Given the description of an element on the screen output the (x, y) to click on. 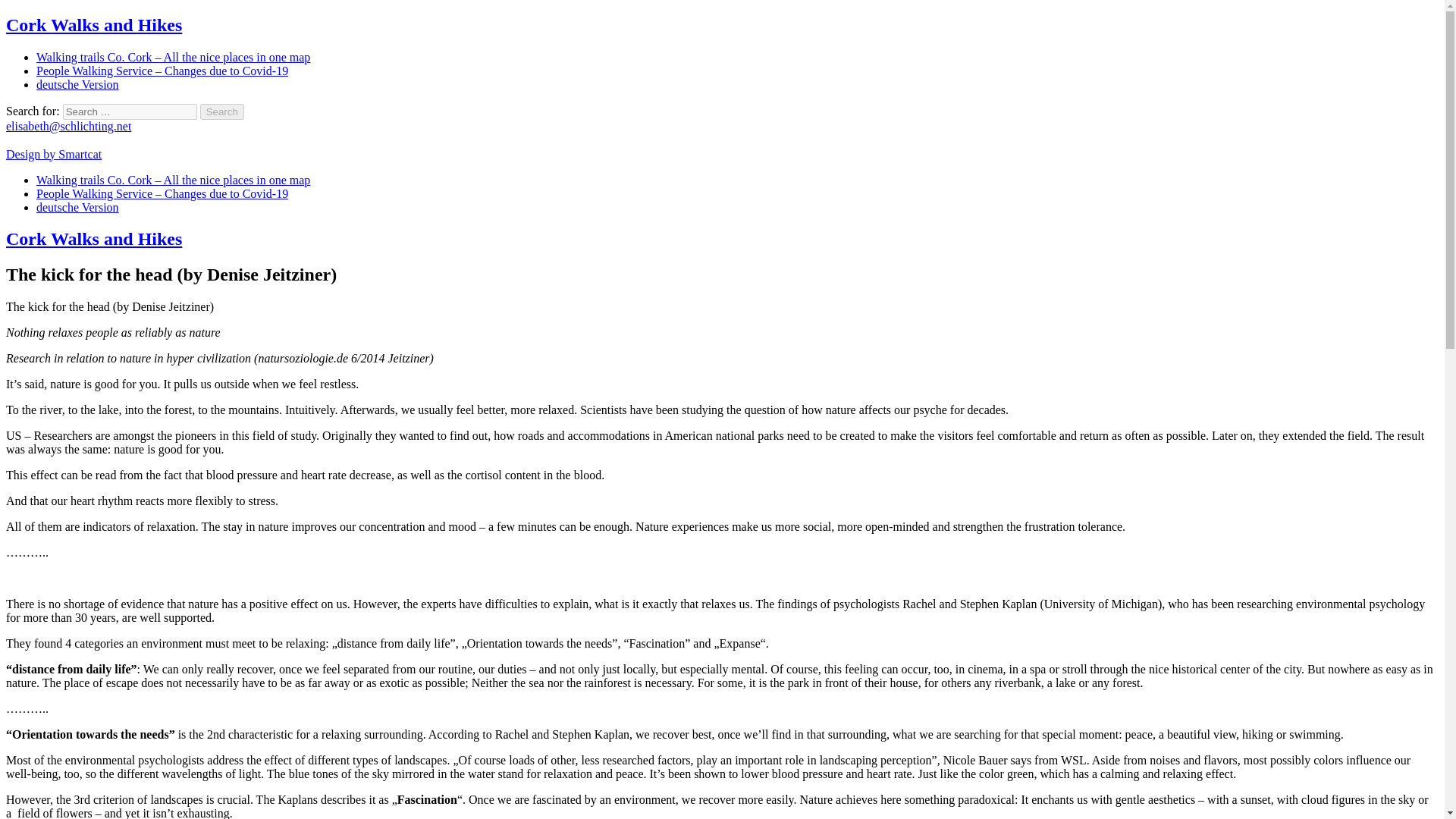
deutsche Version (77, 206)
Cork Walks and Hikes (93, 25)
Search (222, 111)
Search (222, 111)
Cork Walks and Hikes (93, 238)
Search (222, 111)
deutsche Version (77, 83)
